Given the description of an element on the screen output the (x, y) to click on. 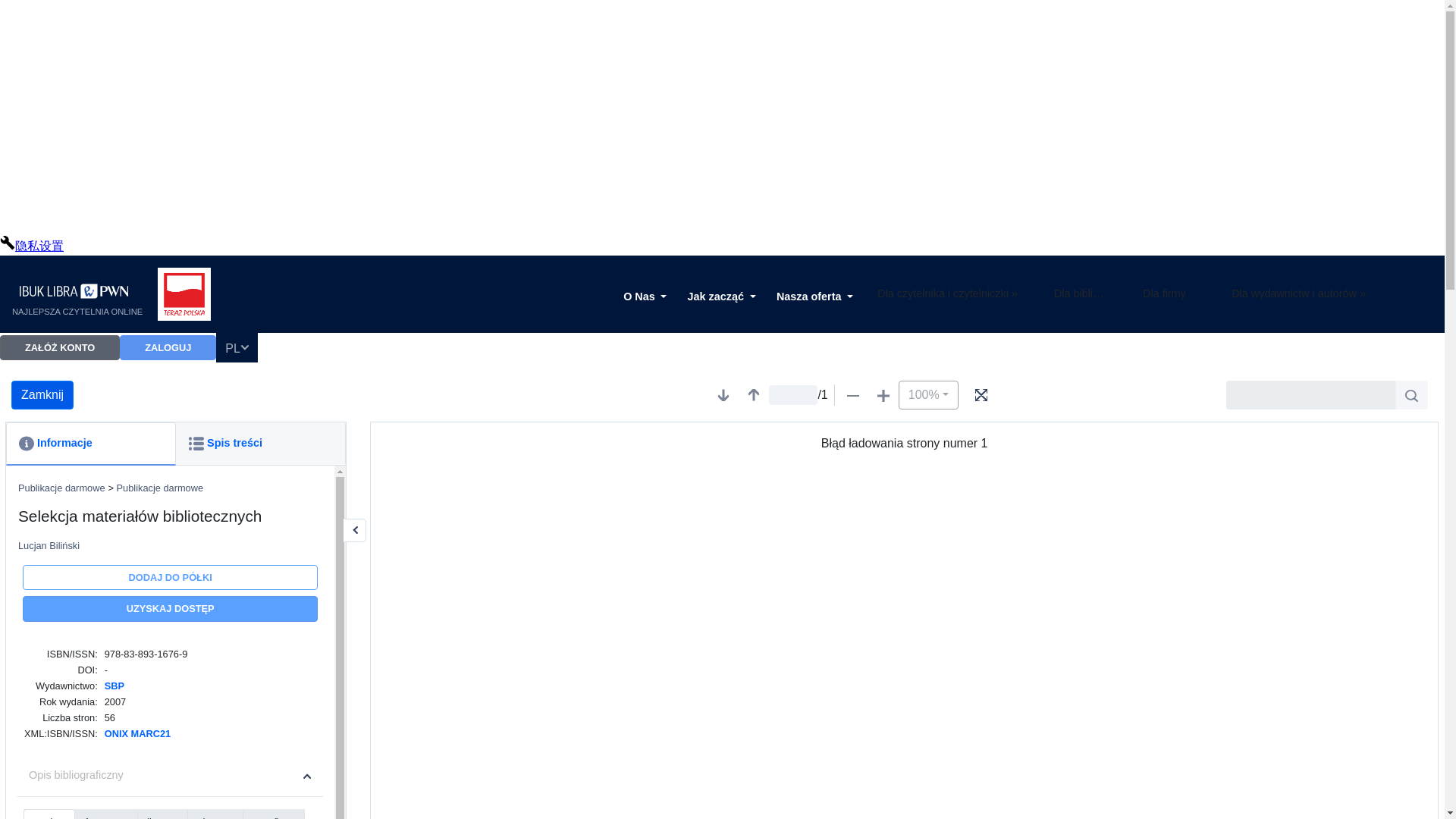
Ukryj boczny pasek (354, 529)
ZALOGUJ (167, 347)
O Nas (644, 297)
Dla biblioteki (1079, 297)
Dla firmy (1168, 297)
Nasza oferta (814, 297)
Dla firmy (1168, 297)
PL (236, 347)
Dla biblioteki (1079, 297)
Zamknij (42, 394)
NAJLEPSZA CZYTELNIA ONLINE (76, 296)
